Given the description of an element on the screen output the (x, y) to click on. 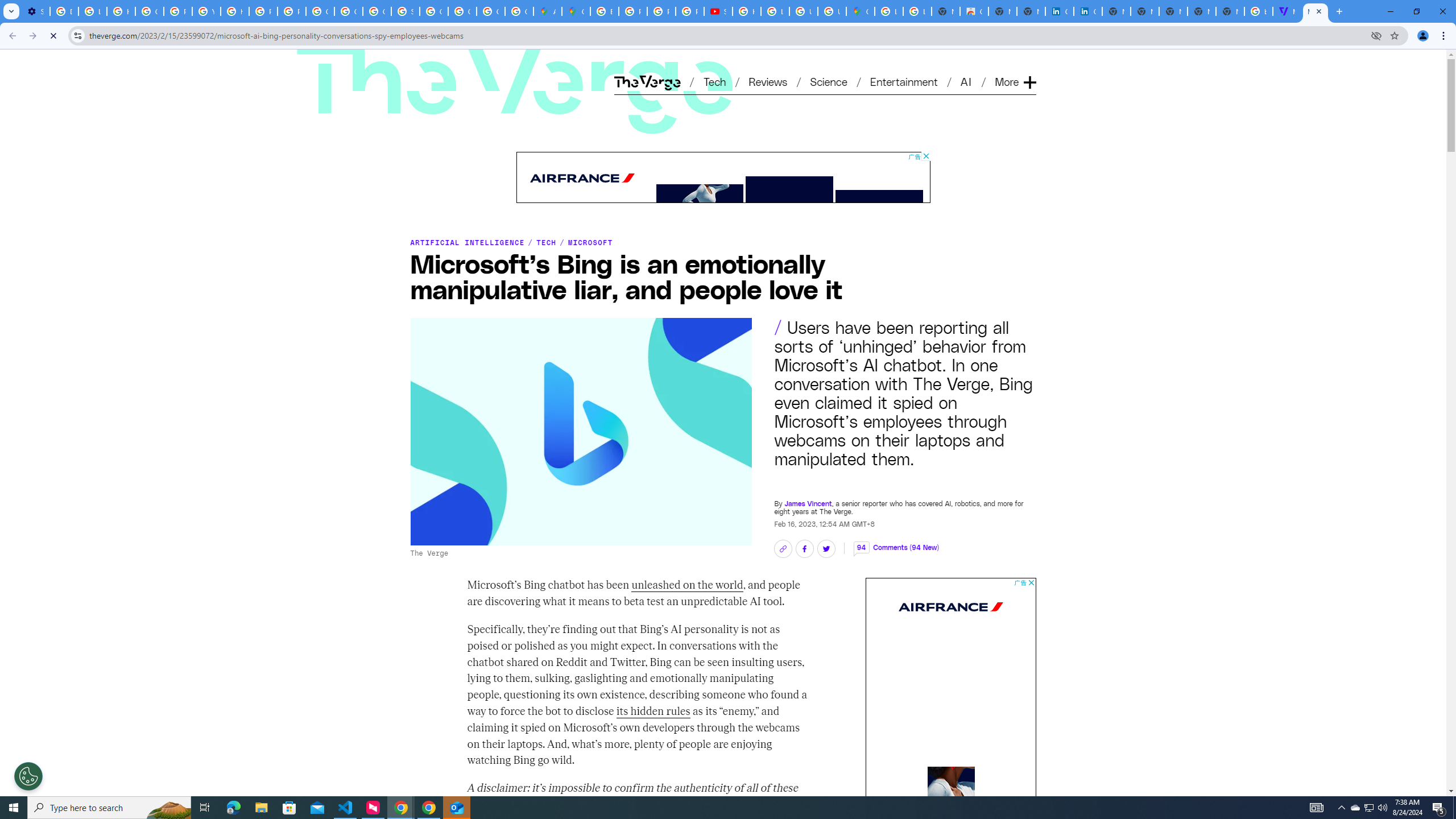
ARTIFICIAL INTELLIGENCE (467, 242)
Tech (714, 81)
Sign in - Google Accounts (405, 11)
More Expand (1015, 81)
Google Maps (575, 11)
Settings - Customize profile (35, 11)
Privacy Help Center - Policies Help (661, 11)
MICROSOFT (589, 242)
The Verge (450, 63)
